Given the description of an element on the screen output the (x, y) to click on. 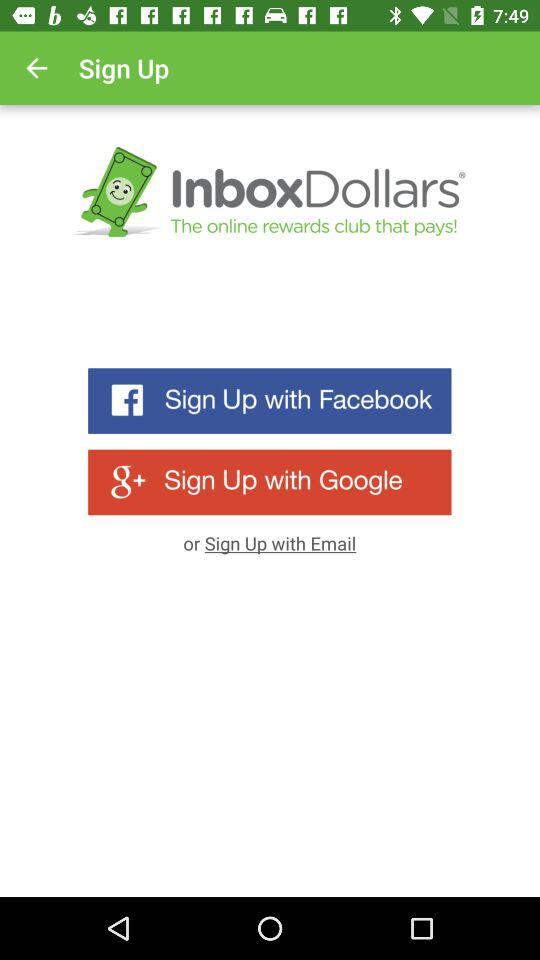
sign up with facebook account (269, 400)
